Given the description of an element on the screen output the (x, y) to click on. 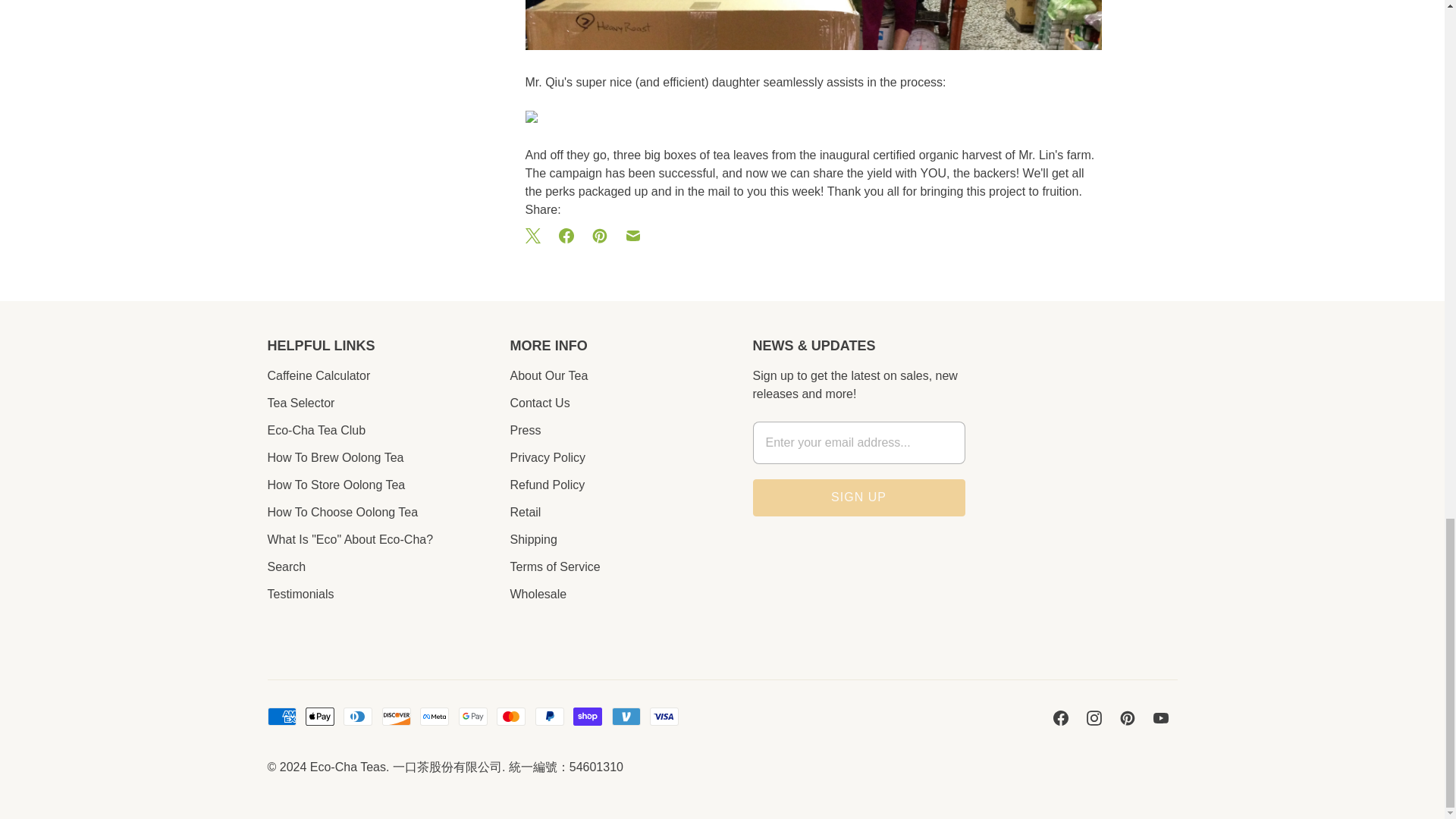
PayPal (549, 716)
Google Pay (472, 716)
Diners Club (357, 716)
American Express (280, 716)
Share this on Pinterest (598, 235)
Apple Pay (319, 716)
Mastercard (510, 716)
Sign Up (857, 497)
Discover (395, 716)
Shop Pay (587, 716)
